Given the description of an element on the screen output the (x, y) to click on. 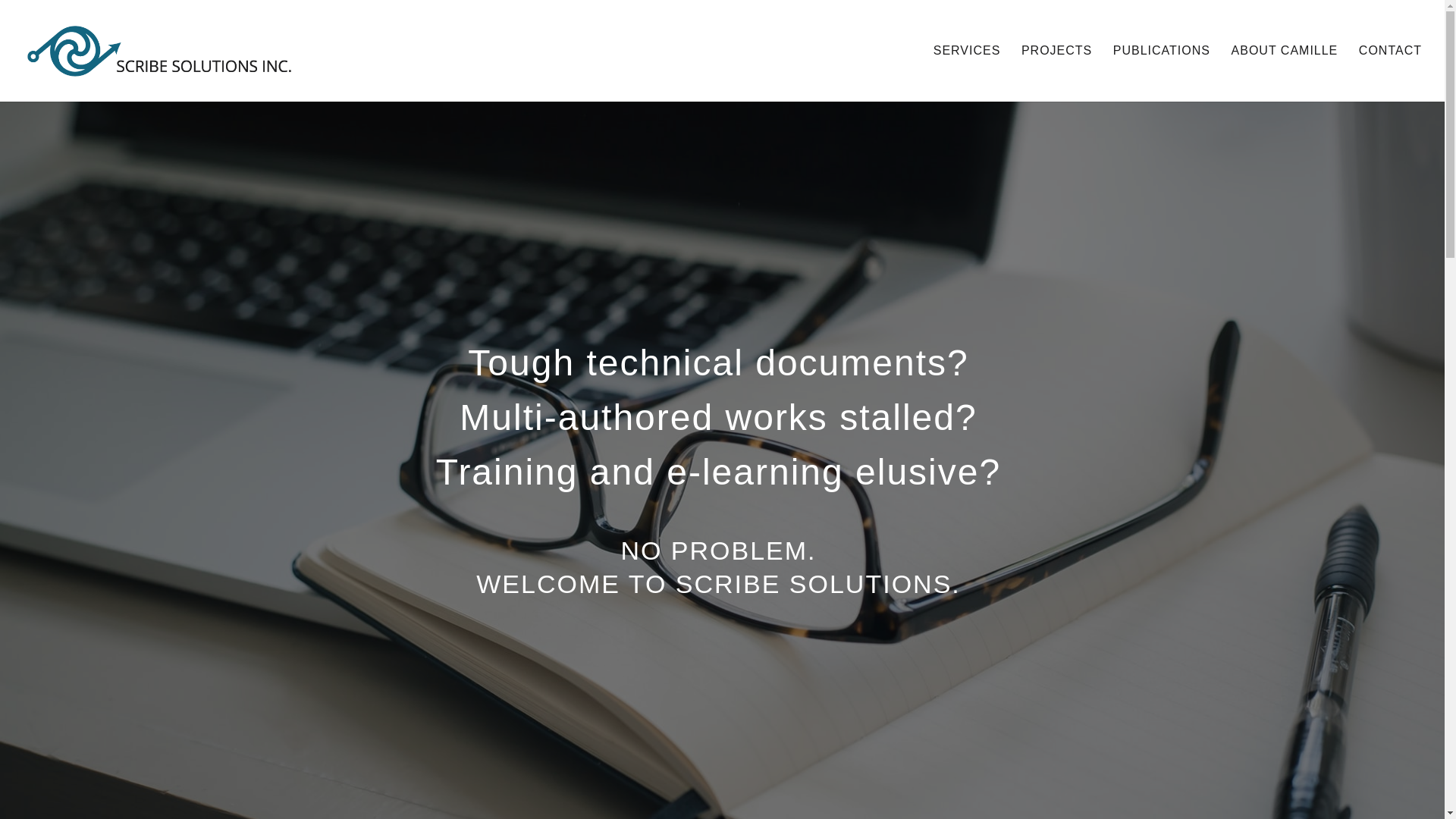
PROJECTS (1057, 73)
SERVICES (967, 73)
CONTACT (1390, 73)
ABOUT CAMILLE (1284, 73)
PUBLICATIONS (1161, 73)
